Given the description of an element on the screen output the (x, y) to click on. 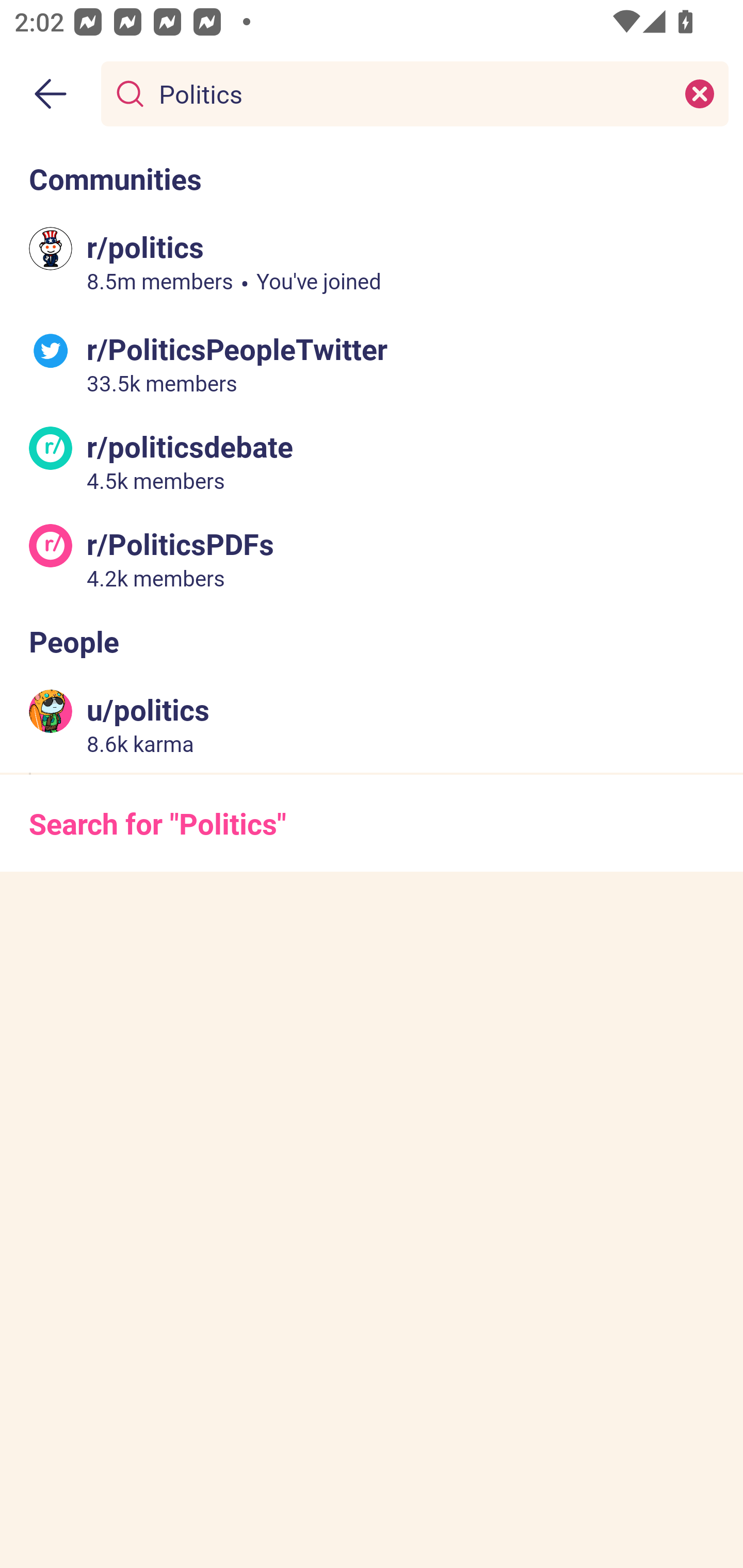
Back (50, 93)
Politics (410, 93)
Clear search (699, 93)
r/politicsdebate 4.5k members 4.5 thousand members (371, 460)
r/PoliticsPDFs 4.2k members 4.2 thousand members (371, 557)
u/politics 8.6k karma 8.6 thousand karma (371, 724)
Search for "Politics" (371, 822)
